Given the description of an element on the screen output the (x, y) to click on. 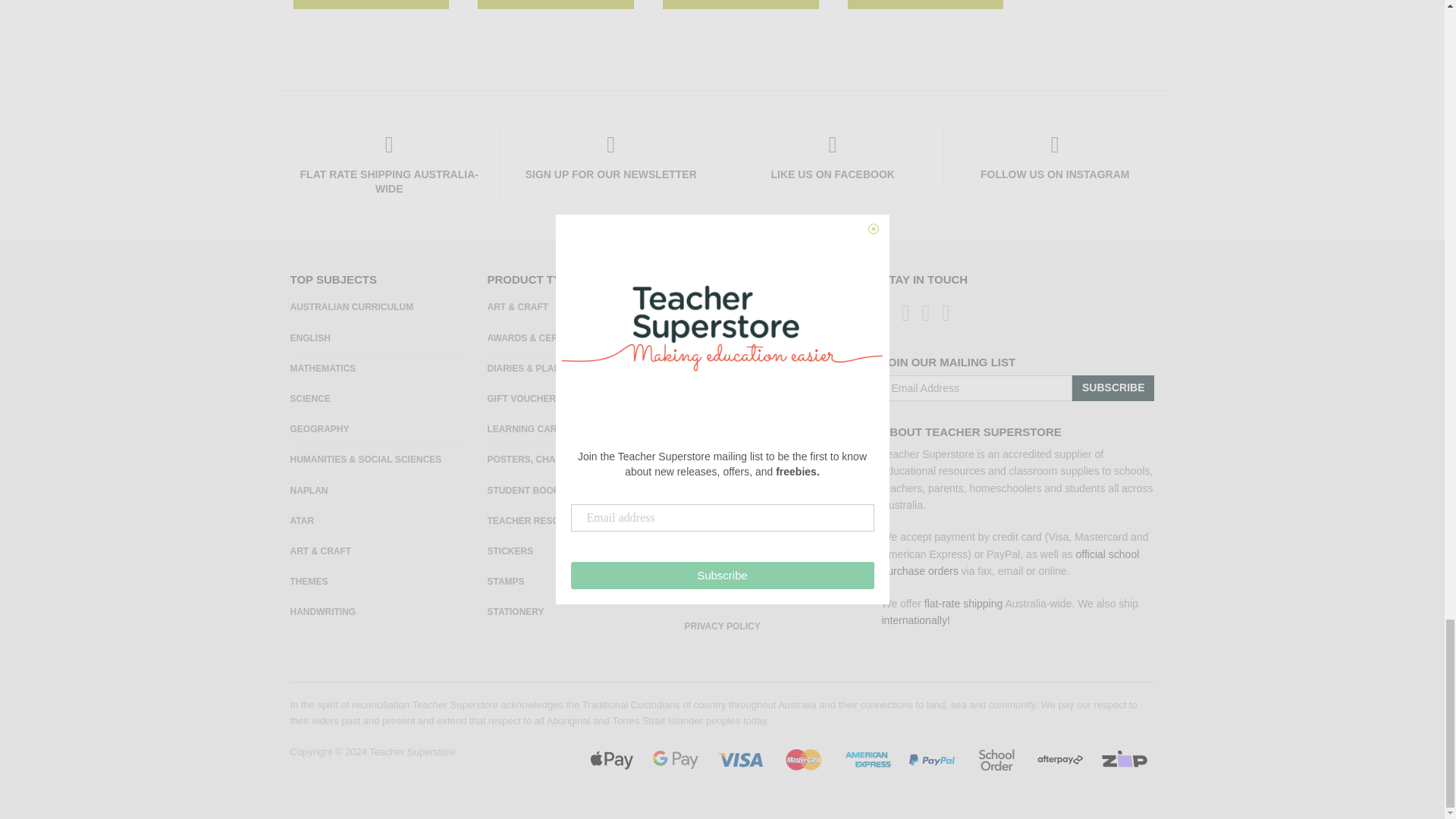
Subscribe (1112, 388)
